Given the description of an element on the screen output the (x, y) to click on. 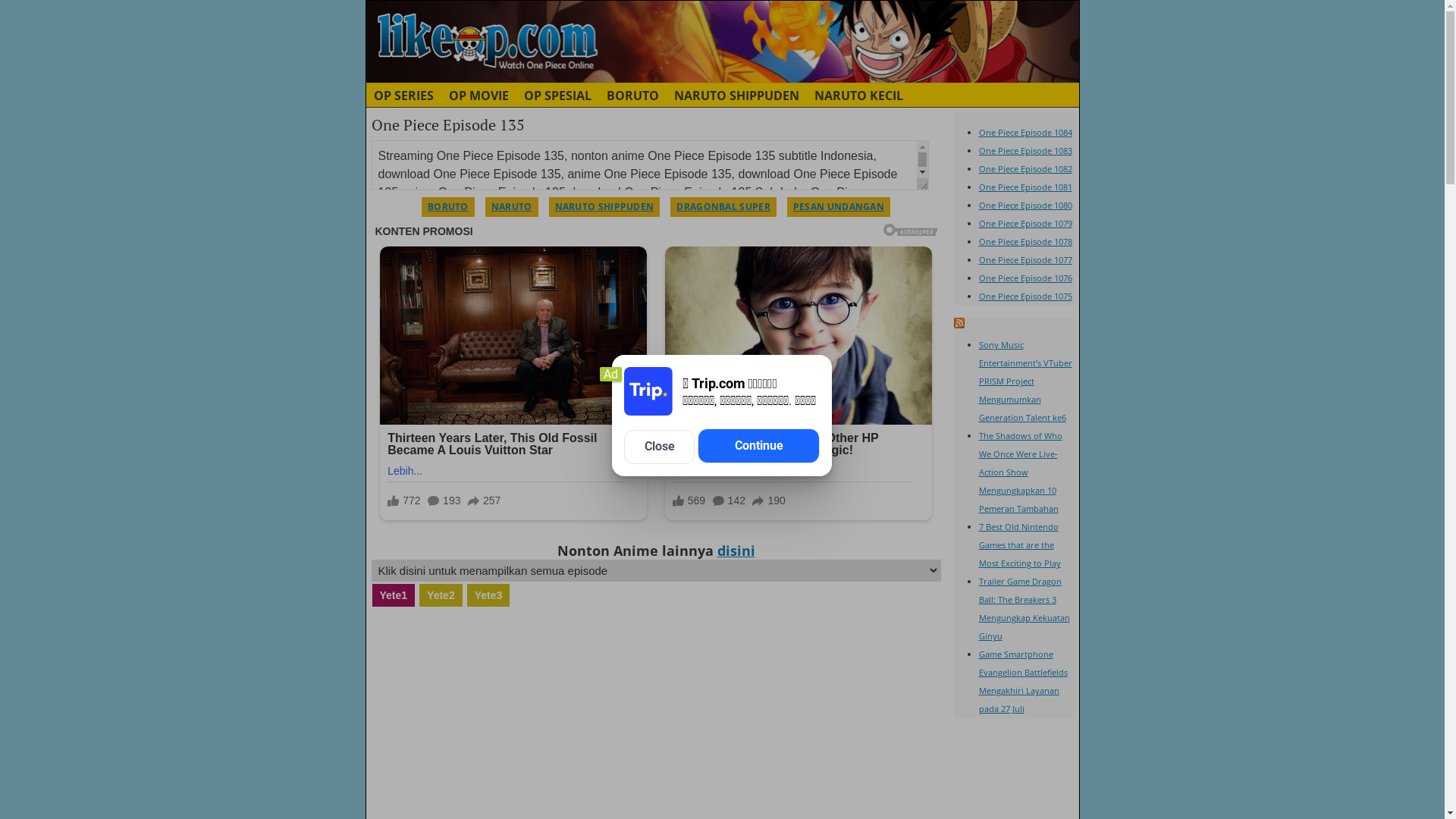
Yete1 Element type: text (393, 594)
One Piece Episode 1076 Element type: text (1024, 277)
One Piece Episode 1078 Element type: text (1024, 241)
NARUTO Element type: text (511, 206)
Skip to content Element type: text (372, 94)
One Piece Episode 1084 Element type: text (1024, 132)
OP SPESIAL Element type: text (556, 94)
DRAGONBAL SUPER Element type: text (723, 206)
One Piece Episode 1083 Element type: text (1024, 150)
7 Best Old Nintendo Games that are the Most Exciting to Play Element type: text (1019, 544)
PESAN UNDANGAN Element type: text (838, 206)
NARUTO KECIL Element type: text (858, 94)
One Piece Episode 1079 Element type: text (1024, 223)
BORUTO Element type: text (632, 94)
Yete3 Element type: text (488, 594)
One Piece Episode 1075 Element type: text (1024, 295)
One Piece Episode 1077 Element type: text (1024, 259)
Yete2 Element type: text (440, 594)
BORUTO Element type: text (447, 206)
One Piece Episode 1080 Element type: text (1024, 204)
OP MOVIE Element type: text (478, 94)
NARUTO SHIPPUDEN Element type: text (735, 94)
One Piece Episode 1081 Element type: text (1024, 186)
One Piece Episode 1082 Element type: text (1024, 168)
OP SERIES Element type: text (402, 94)
disini Element type: text (736, 550)
NARUTO SHIPPUDEN Element type: text (604, 206)
